Given the description of an element on the screen output the (x, y) to click on. 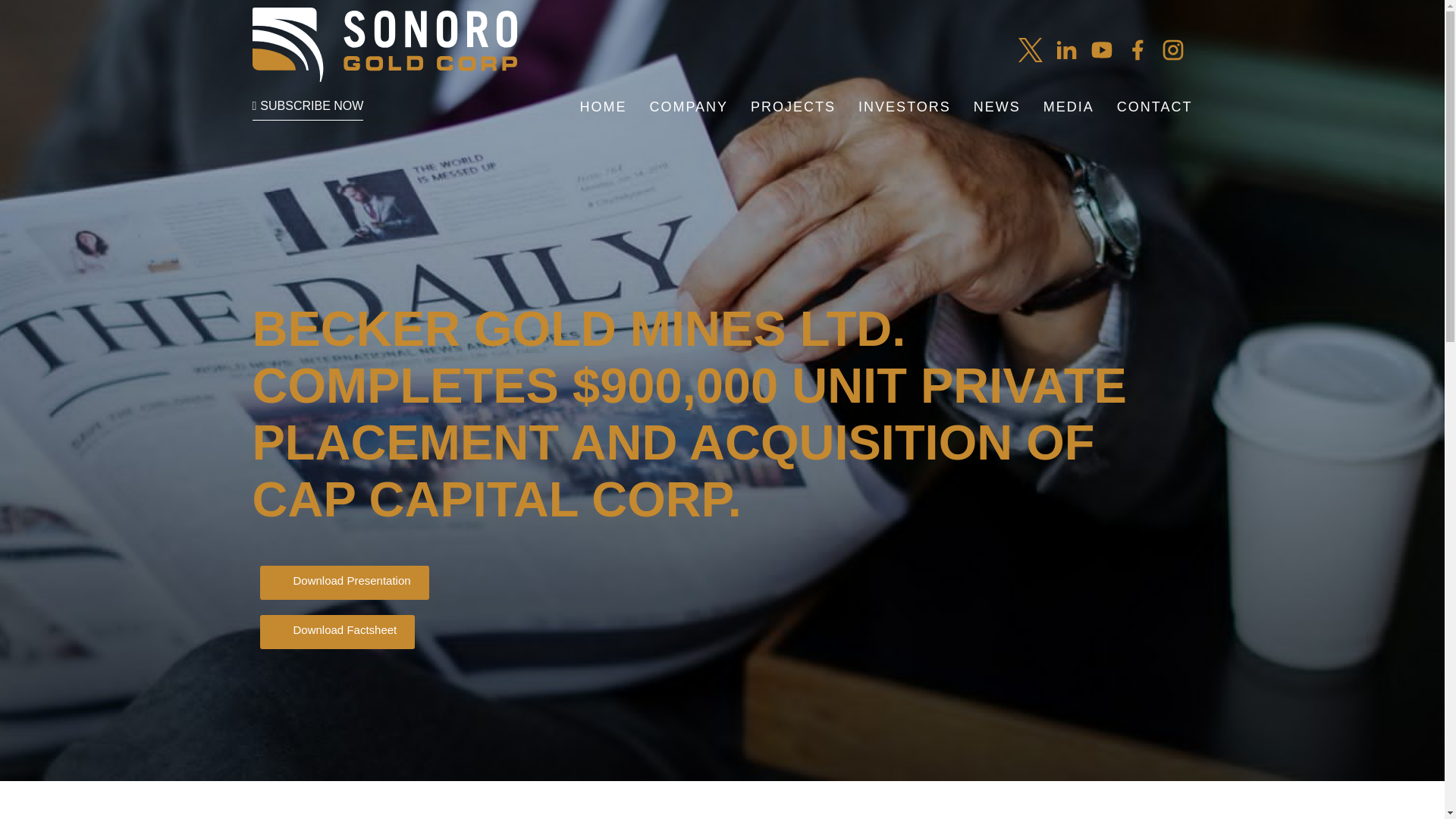
COMPANY (688, 106)
SUBSCRIBE NOW (306, 106)
HOME (602, 106)
